Given the description of an element on the screen output the (x, y) to click on. 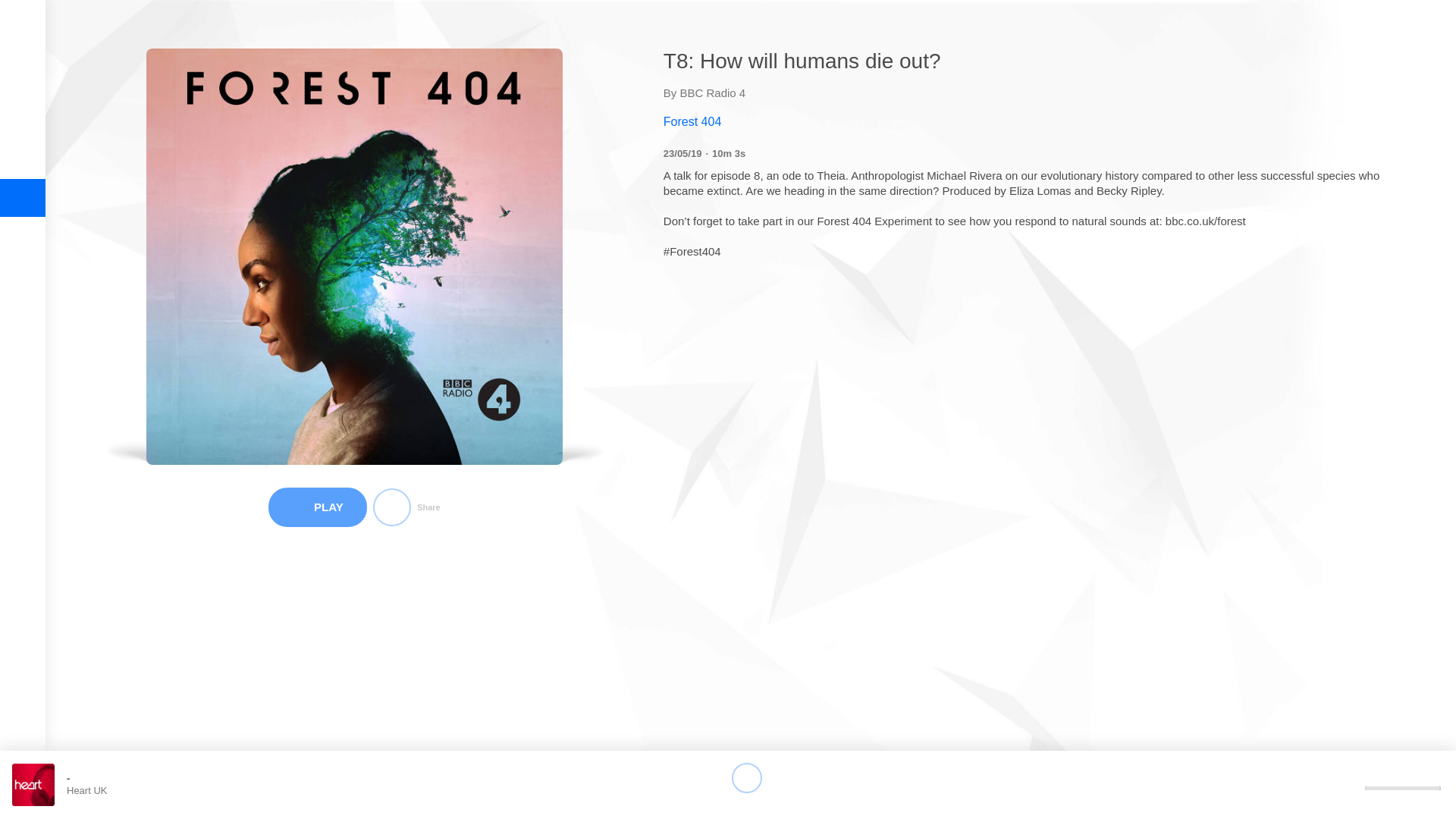
Global Player (22, 30)
Forest 404 (1035, 121)
Share (406, 507)
Share (406, 507)
Global Player (22, 30)
PLAY (316, 507)
